Given the description of an element on the screen output the (x, y) to click on. 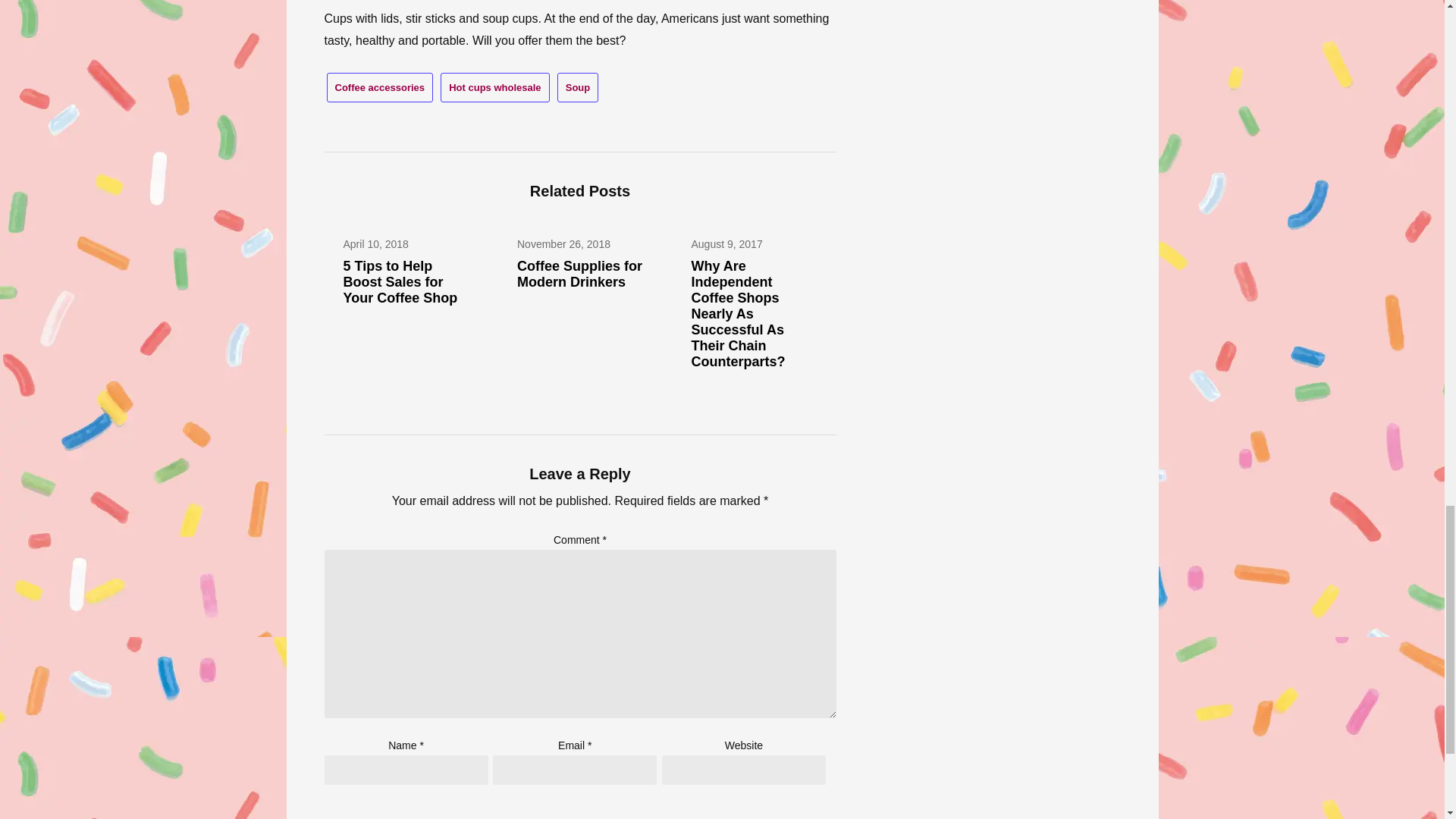
5 Tips to Help Boost Sales for Your Coffee Shop (399, 281)
Coffee Supplies for Modern Drinkers (579, 273)
Coffee accessories (379, 87)
Hot cups wholesale (494, 87)
Soup (577, 87)
